Given the description of an element on the screen output the (x, y) to click on. 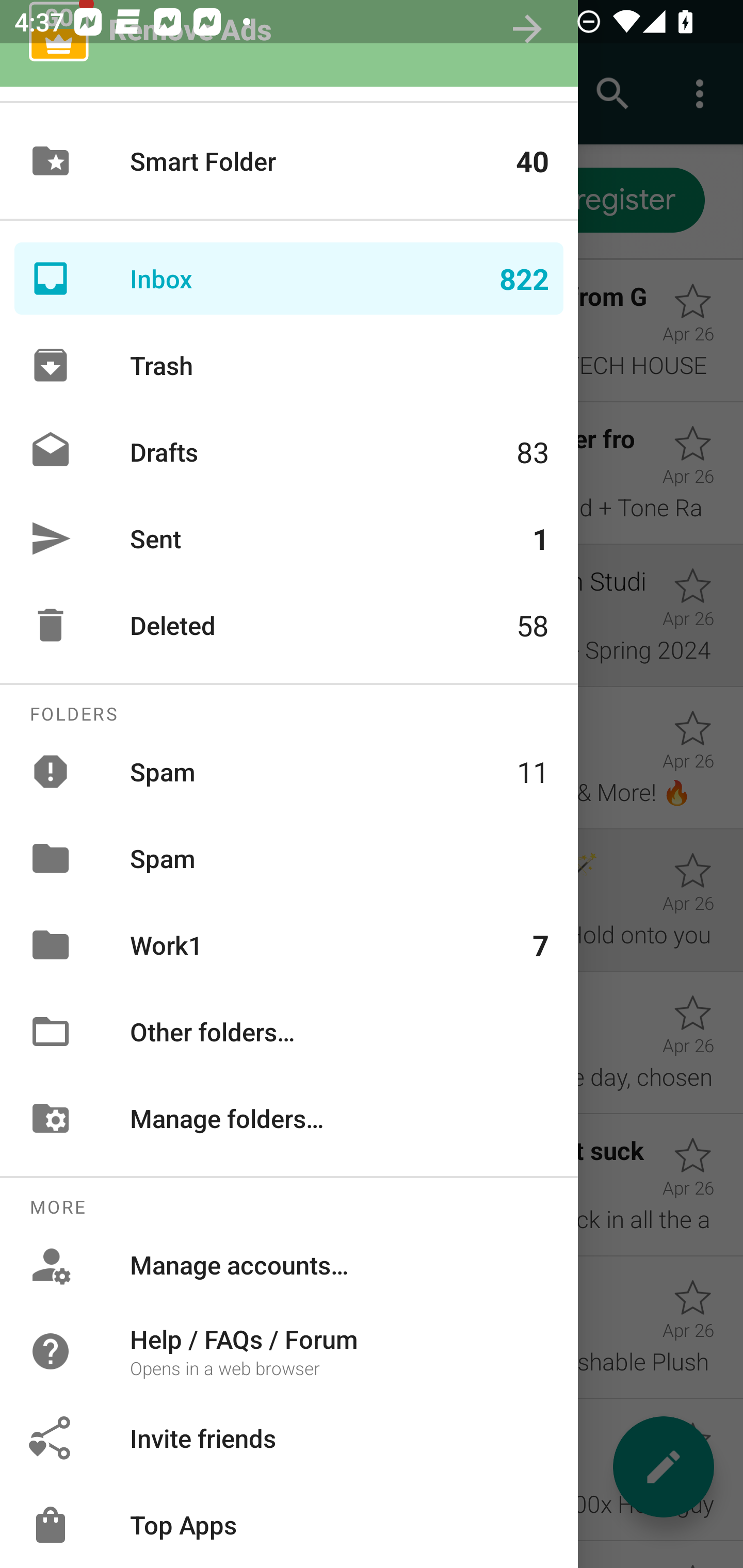
Smart Folder 40 (289, 160)
Inbox 822 (289, 278)
Trash (289, 365)
Drafts 83 (289, 452)
Sent 1 (289, 538)
Deleted 58 (289, 624)
Spam 11 (289, 771)
Spam (289, 858)
Work1 7 (289, 944)
Other folders… (289, 1031)
Manage folders… (289, 1118)
Manage accounts… (289, 1264)
Help / FAQs / Forum Opens in a web browser (289, 1350)
Invite friends (289, 1437)
Top Apps (289, 1524)
